Given the description of an element on the screen output the (x, y) to click on. 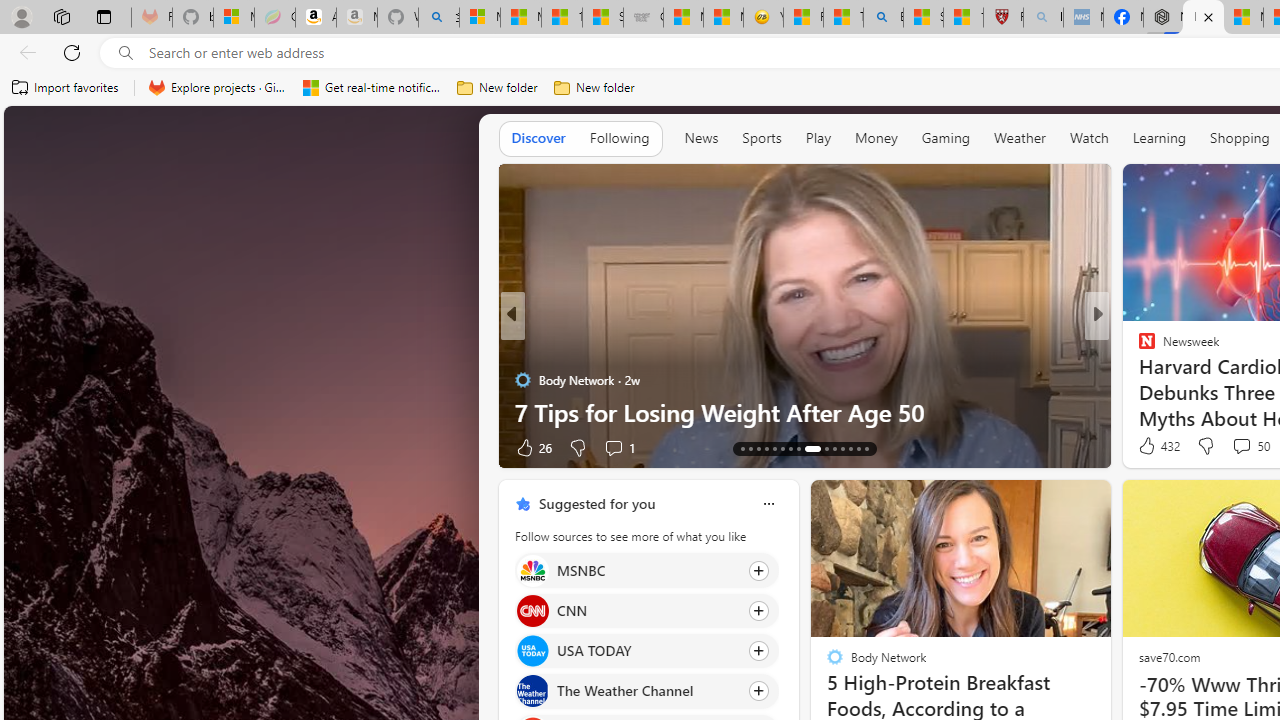
View comments 104 Comment (1234, 447)
CNN (532, 610)
12 Popular Science Lies that Must be Corrected (963, 17)
Microsoft Start (1243, 17)
Gaming (945, 137)
Bing (883, 17)
Nordace - Nordace Siena Is Not An Ordinary Backpack (1163, 17)
AutomationID: tab-73 (797, 448)
Play (817, 137)
Watch (1089, 138)
Discover (538, 137)
